Given the description of an element on the screen output the (x, y) to click on. 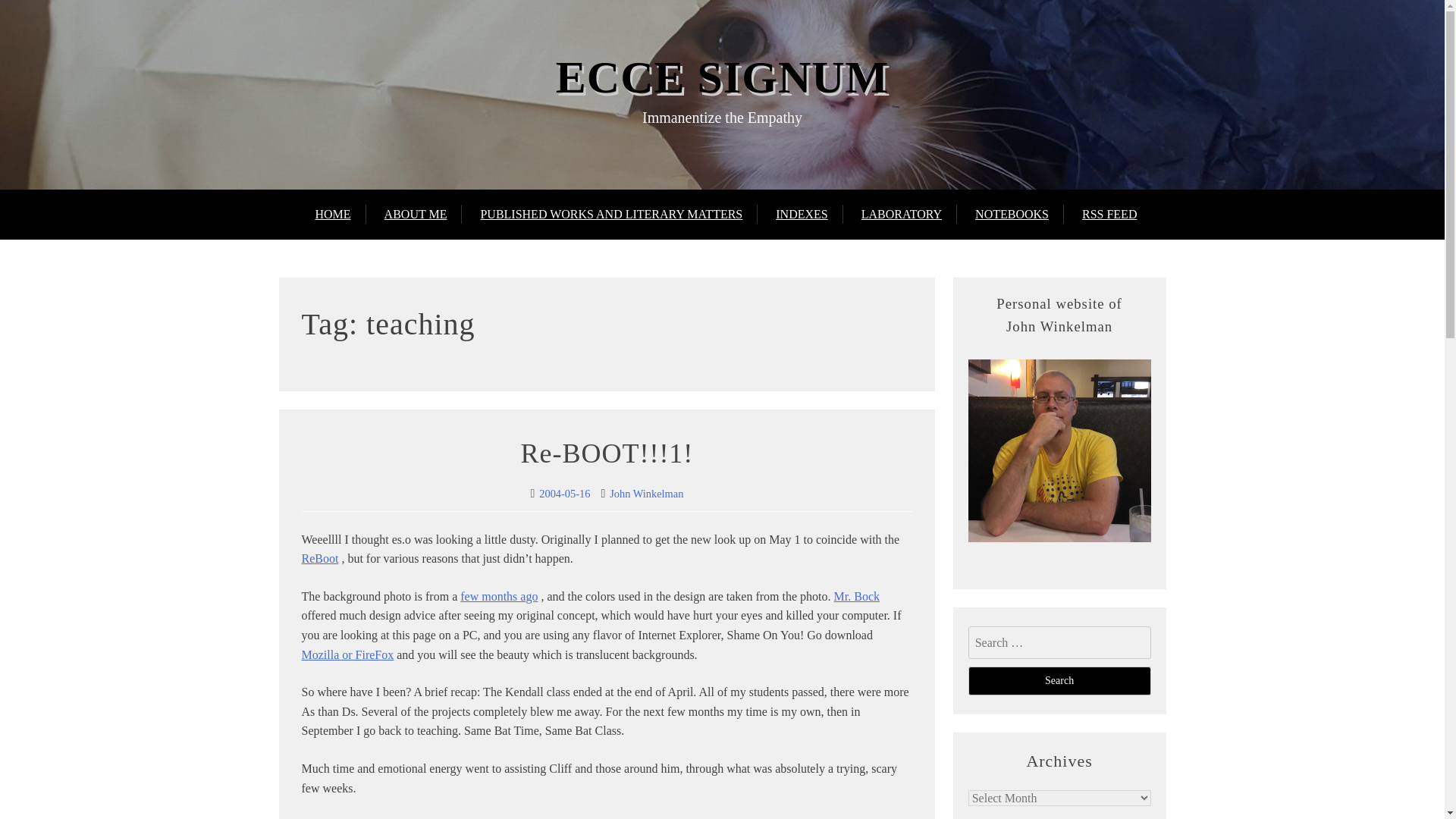
Mr. Bock (856, 595)
RSS FEED (1109, 214)
2004-05-16 (563, 493)
John Winkelman (646, 493)
ReBoot (320, 558)
ECCE SIGNUM (722, 77)
ABOUT ME (416, 214)
NOTEBOOKS (1011, 214)
Search (1059, 680)
few months ago (498, 595)
Re-BOOT!!!1! (606, 453)
Search (1059, 680)
HOME (340, 214)
INDEXES (801, 214)
Mozilla or FireFox (347, 654)
